Given the description of an element on the screen output the (x, y) to click on. 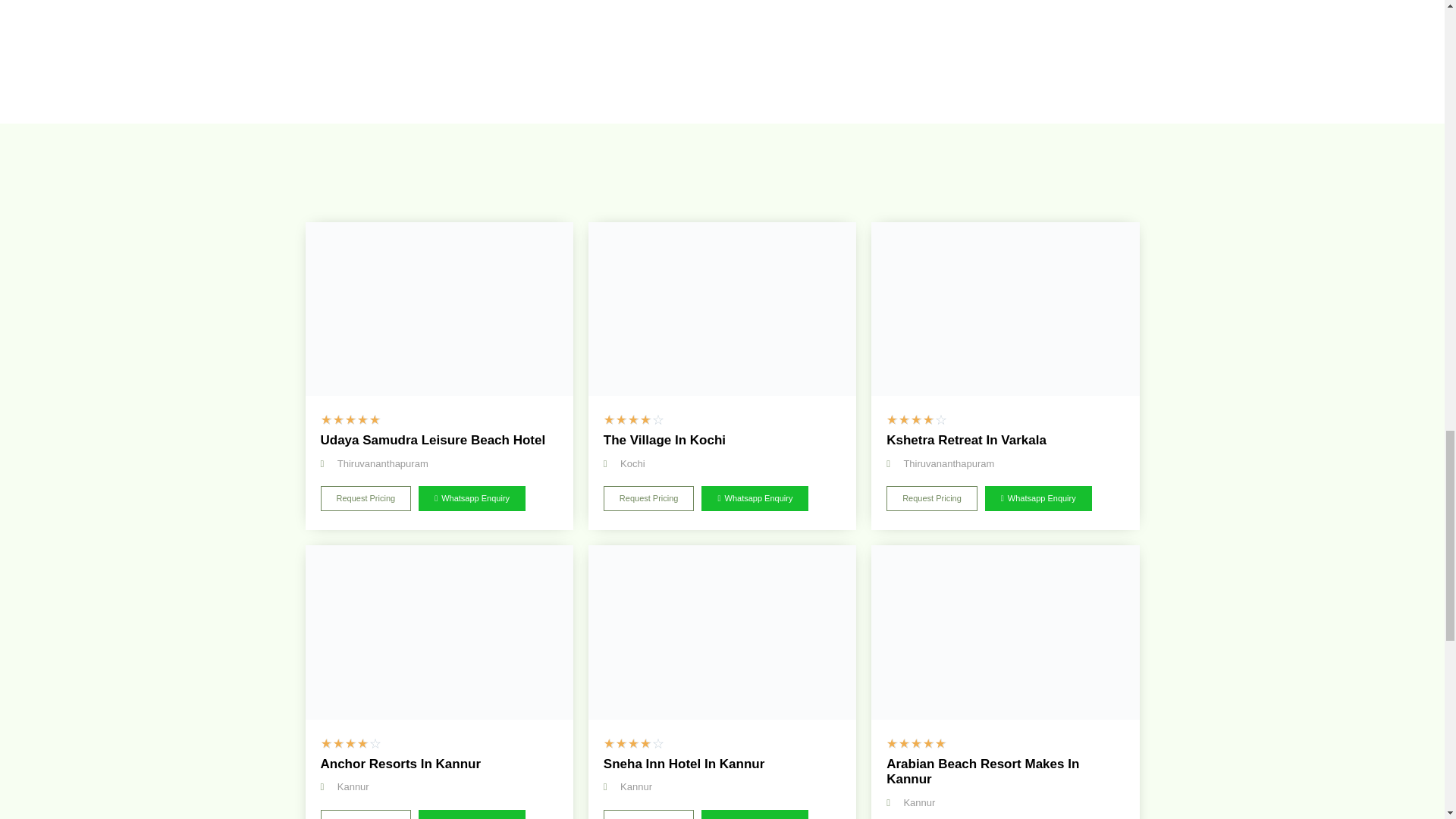
Udaya Samudra Leisure Beach Hotel (438, 308)
Anchor Resorts In Kannur (438, 632)
The Village In Kochi W (722, 308)
Sneha Inn, Kannur W (722, 632)
Arabian Beach Resort Makes W (1004, 632)
Kshetra Retreat In Varkala (1004, 308)
